Given the description of an element on the screen output the (x, y) to click on. 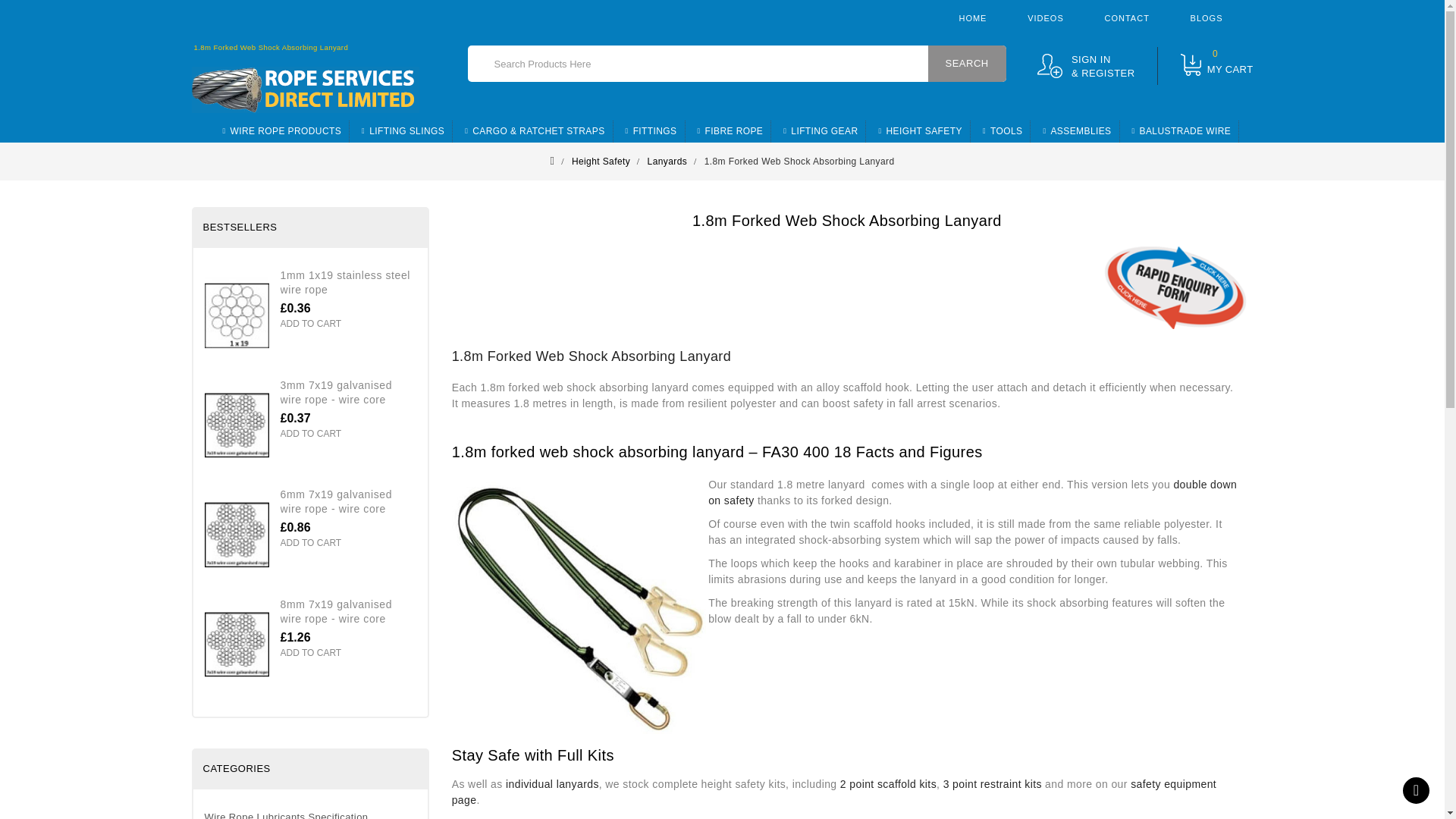
HOME (972, 18)
Sign In (1085, 66)
CONTACT (1127, 18)
BLOGS (1206, 18)
Rope Services Direct Limited (304, 89)
VIDEOS (1046, 18)
